Given the description of an element on the screen output the (x, y) to click on. 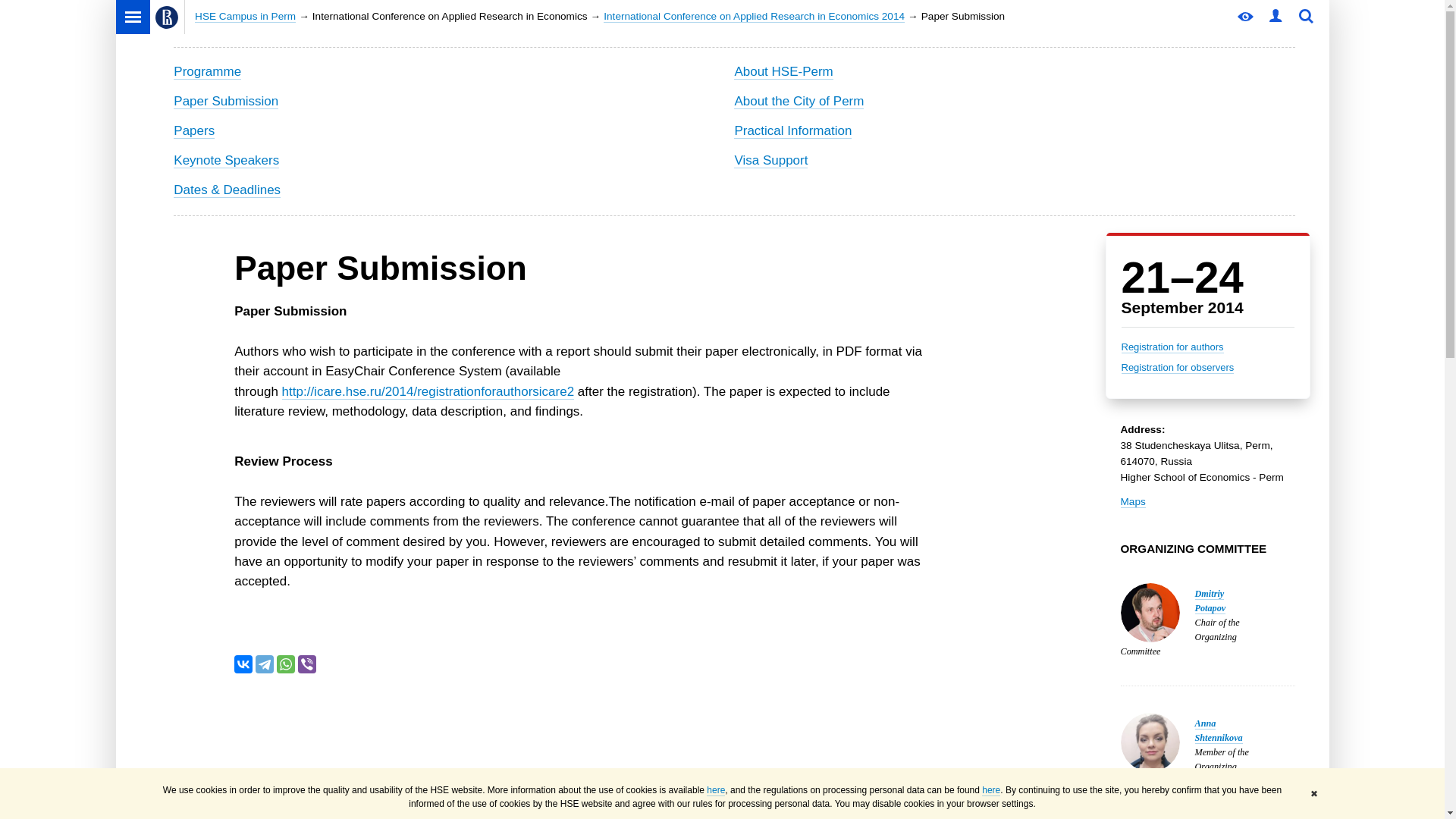
Practical Information (792, 130)
Telegram (264, 664)
here (715, 790)
Registration for authors (1172, 346)
Dmitriy Potapov (1210, 601)
About HSE-Perm (782, 71)
Registration for observers (1177, 367)
Viber (306, 664)
here (990, 790)
Anna Shtennikova (1219, 730)
VKontakte (242, 664)
Papers (193, 130)
Maps (1133, 501)
Programme (207, 71)
Visa Support (770, 160)
